Given the description of an element on the screen output the (x, y) to click on. 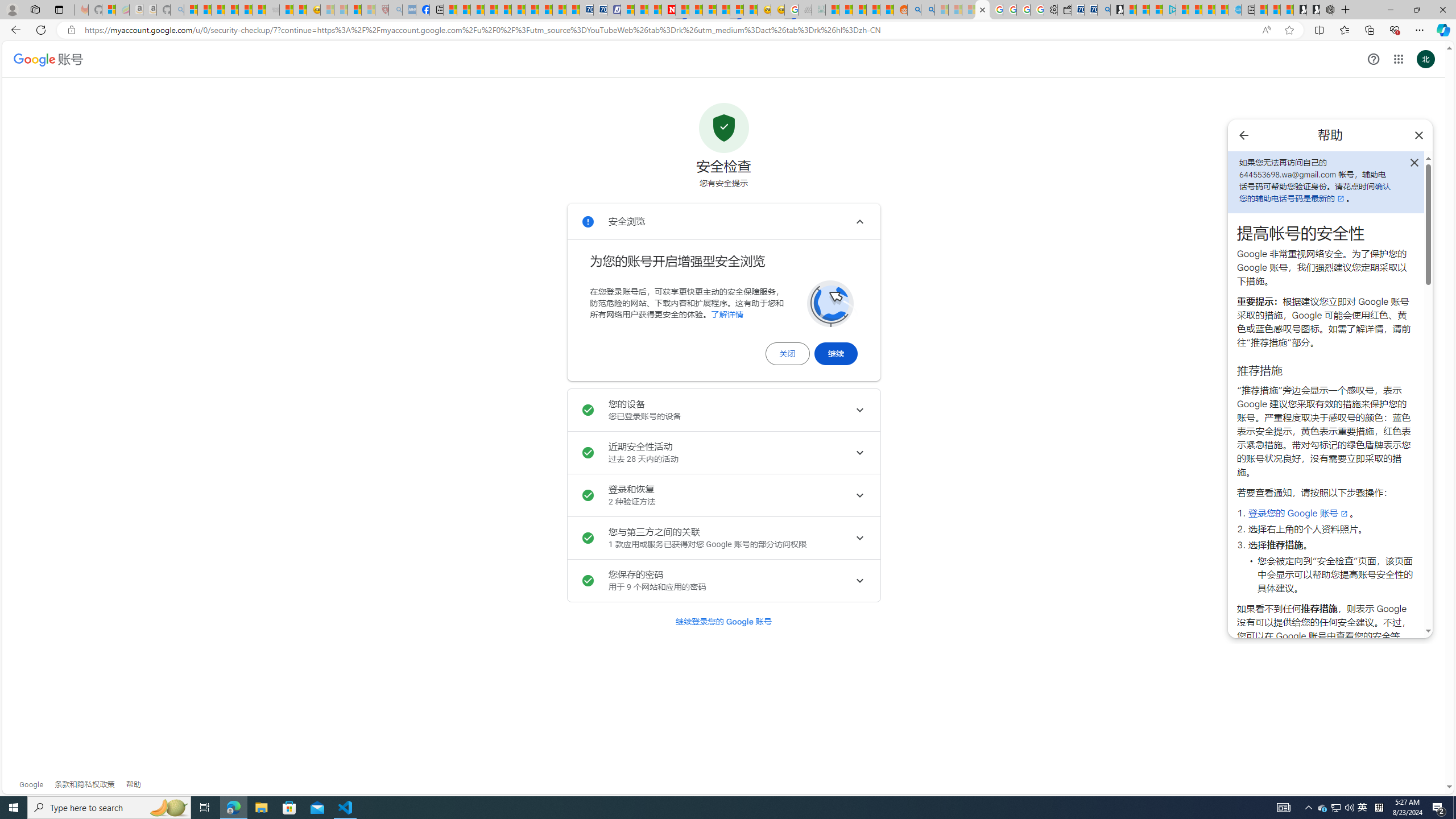
Cheap Car Rentals - Save70.com (1090, 9)
12 Popular Science Lies that Must be Corrected - Sleeping (368, 9)
Student Loan Update: Forgiveness Program Ends This Month (873, 9)
The Weather Channel - MSN (218, 9)
World - MSN (477, 9)
Climate Damage Becomes Too Severe To Reverse (490, 9)
Utah sues federal government - Search (927, 9)
